Given the description of an element on the screen output the (x, y) to click on. 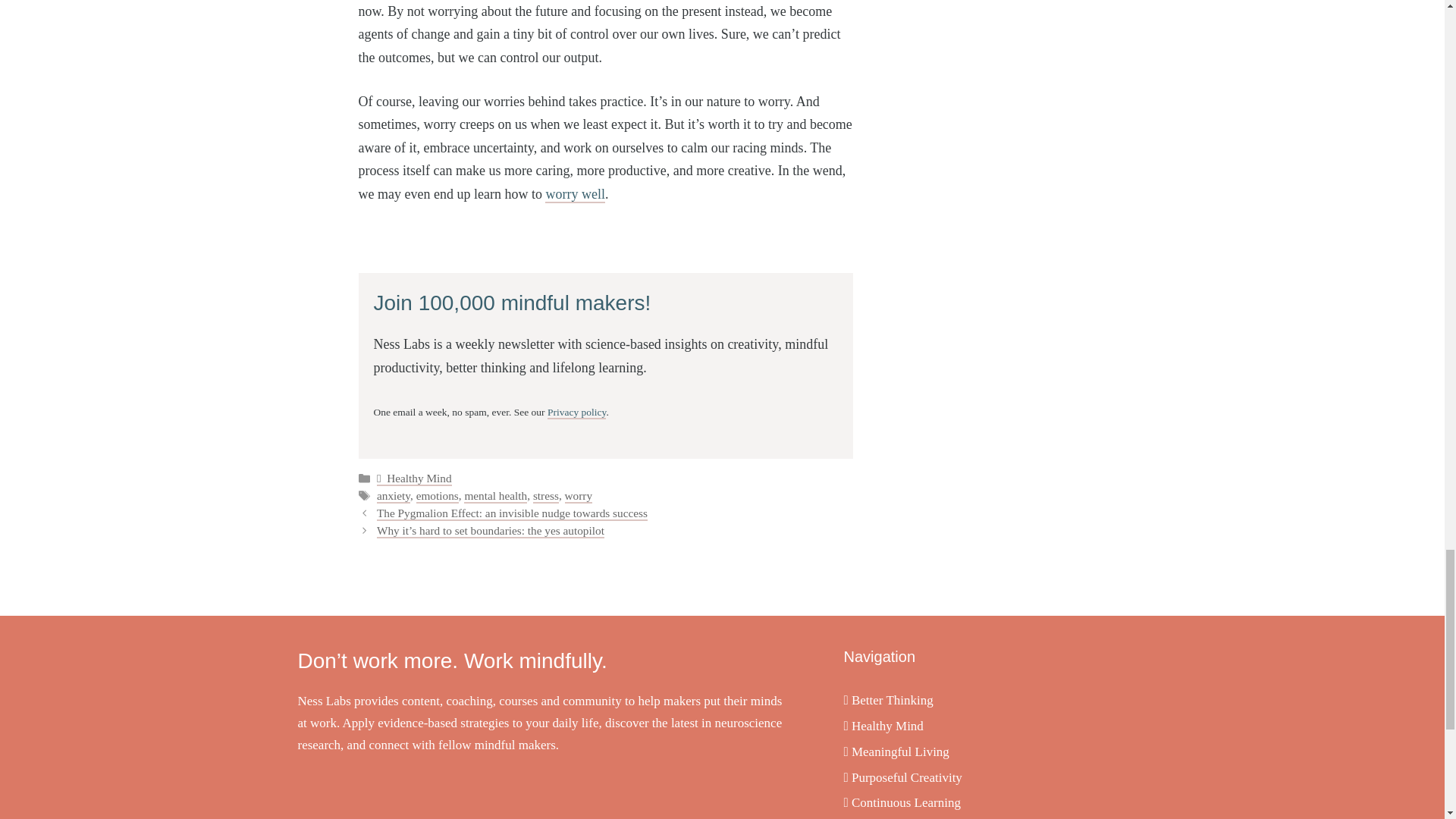
emotions (437, 495)
worry (578, 495)
stress (545, 495)
Privacy policy (576, 412)
anxiety (393, 495)
worry well (574, 194)
mental health (495, 495)
The Pygmalion Effect: an invisible nudge towards success (512, 513)
